Given the description of an element on the screen output the (x, y) to click on. 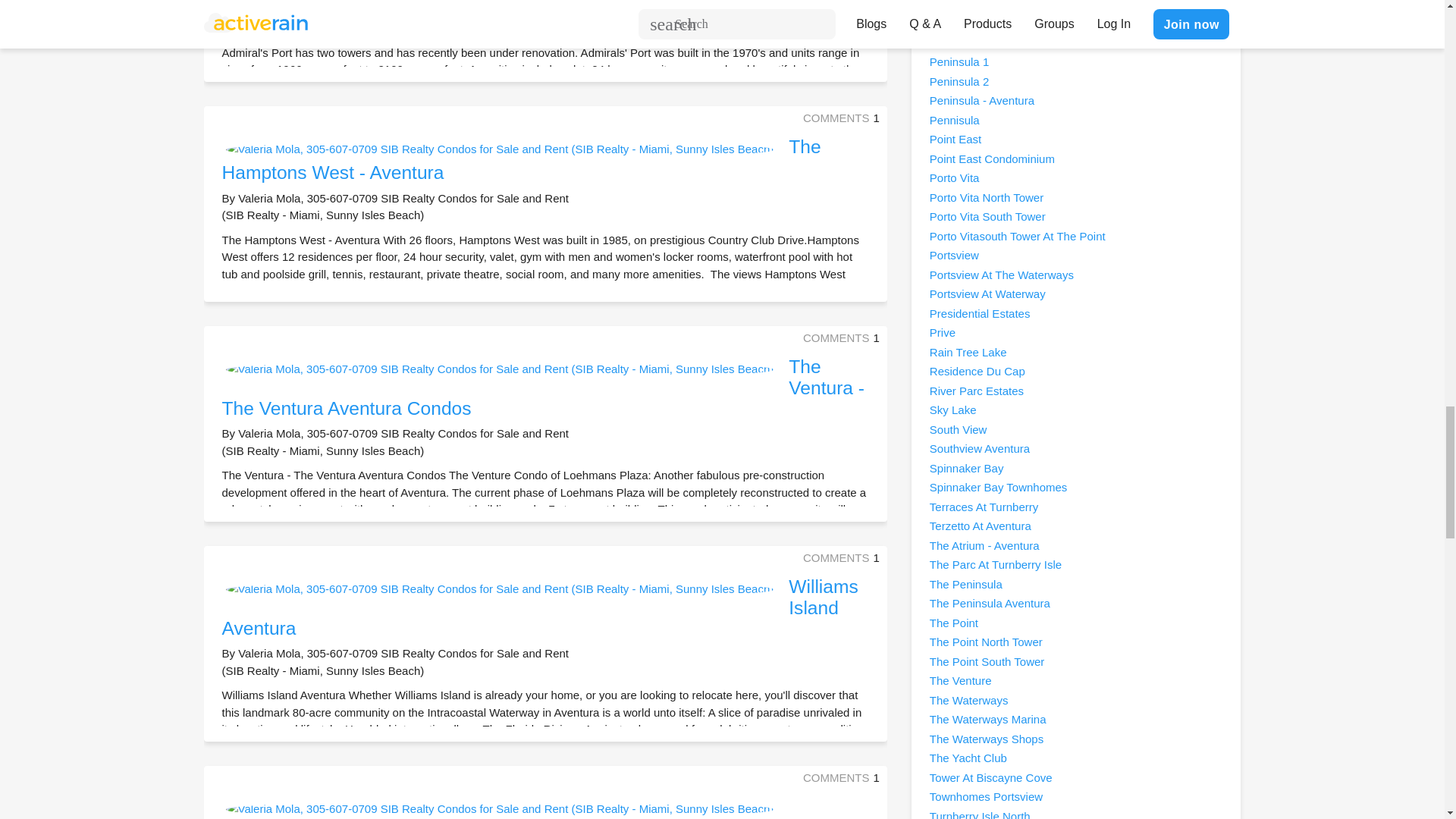
The Hamptons West - Aventura (521, 158)
